Given the description of an element on the screen output the (x, y) to click on. 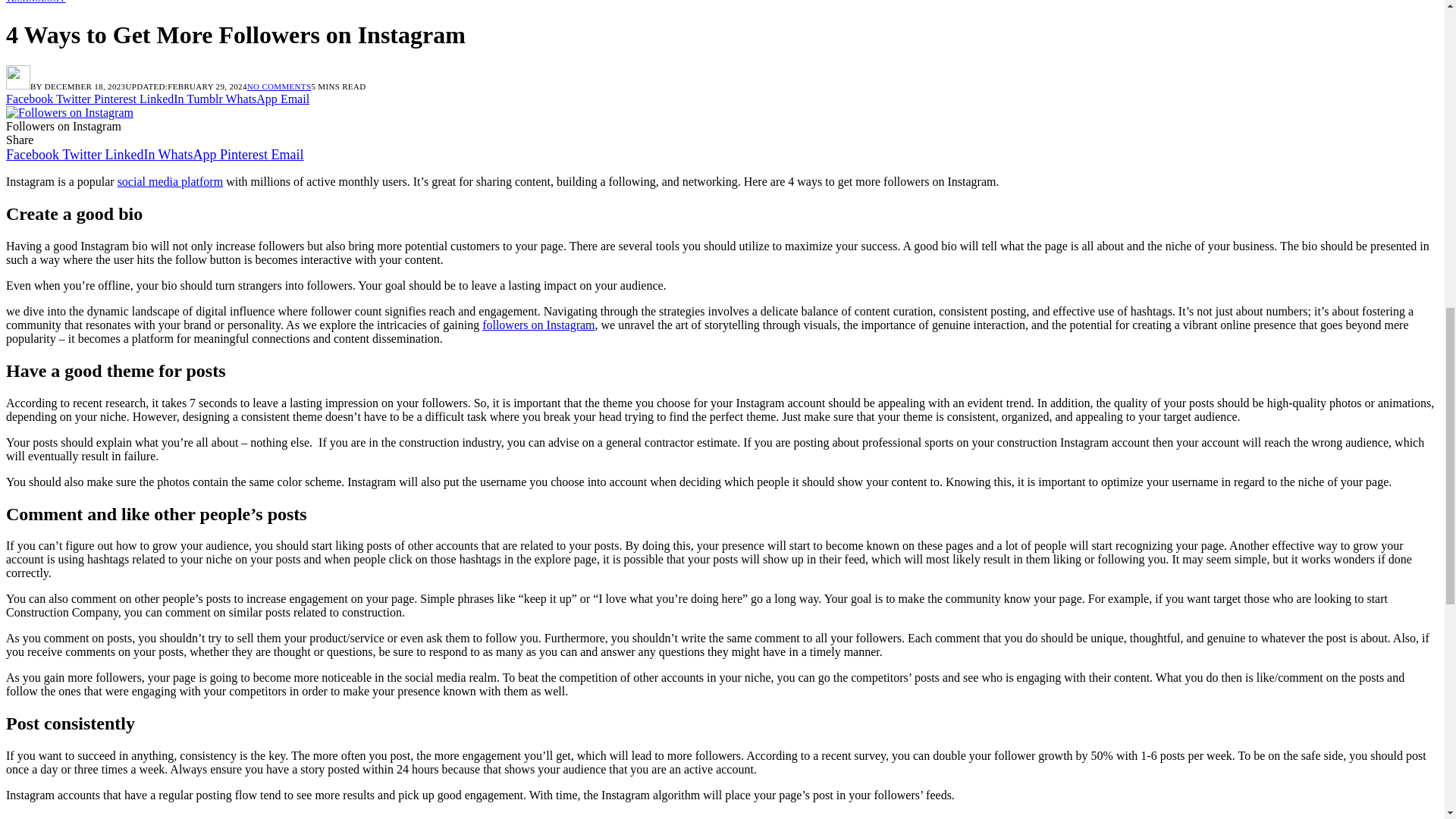
Share via Email (294, 98)
4 Ways to Get More Followers on Instagram (69, 112)
Share on Tumblr (205, 98)
Facebook (33, 154)
Share on WhatsApp (252, 98)
Share on Facebook (30, 98)
Share on Pinterest (116, 98)
Share on LinkedIn (162, 98)
4 Ways to Get More Followers on Instagram (69, 112)
